Given the description of an element on the screen output the (x, y) to click on. 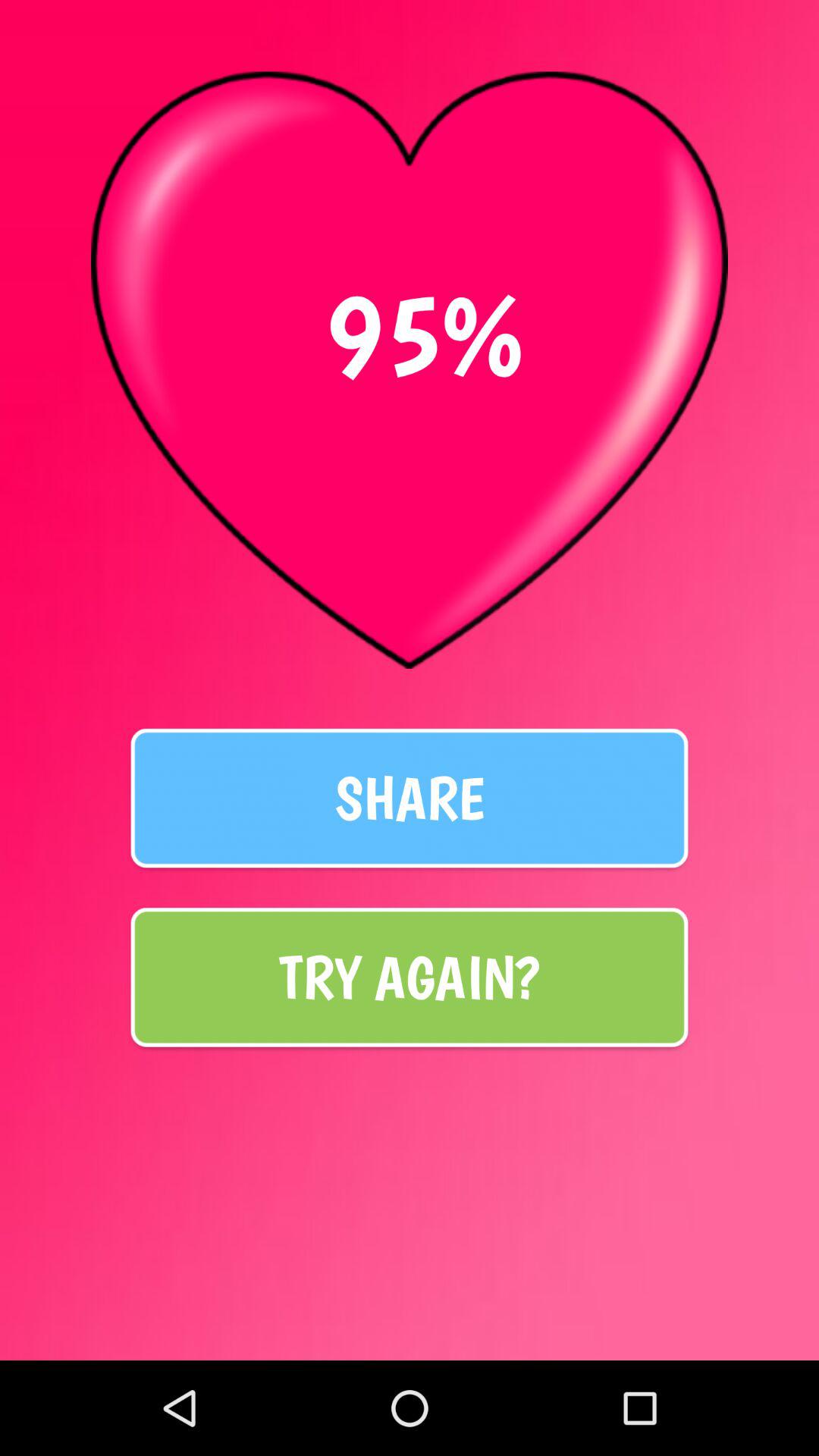
choose the item above try again? icon (409, 797)
